Given the description of an element on the screen output the (x, y) to click on. 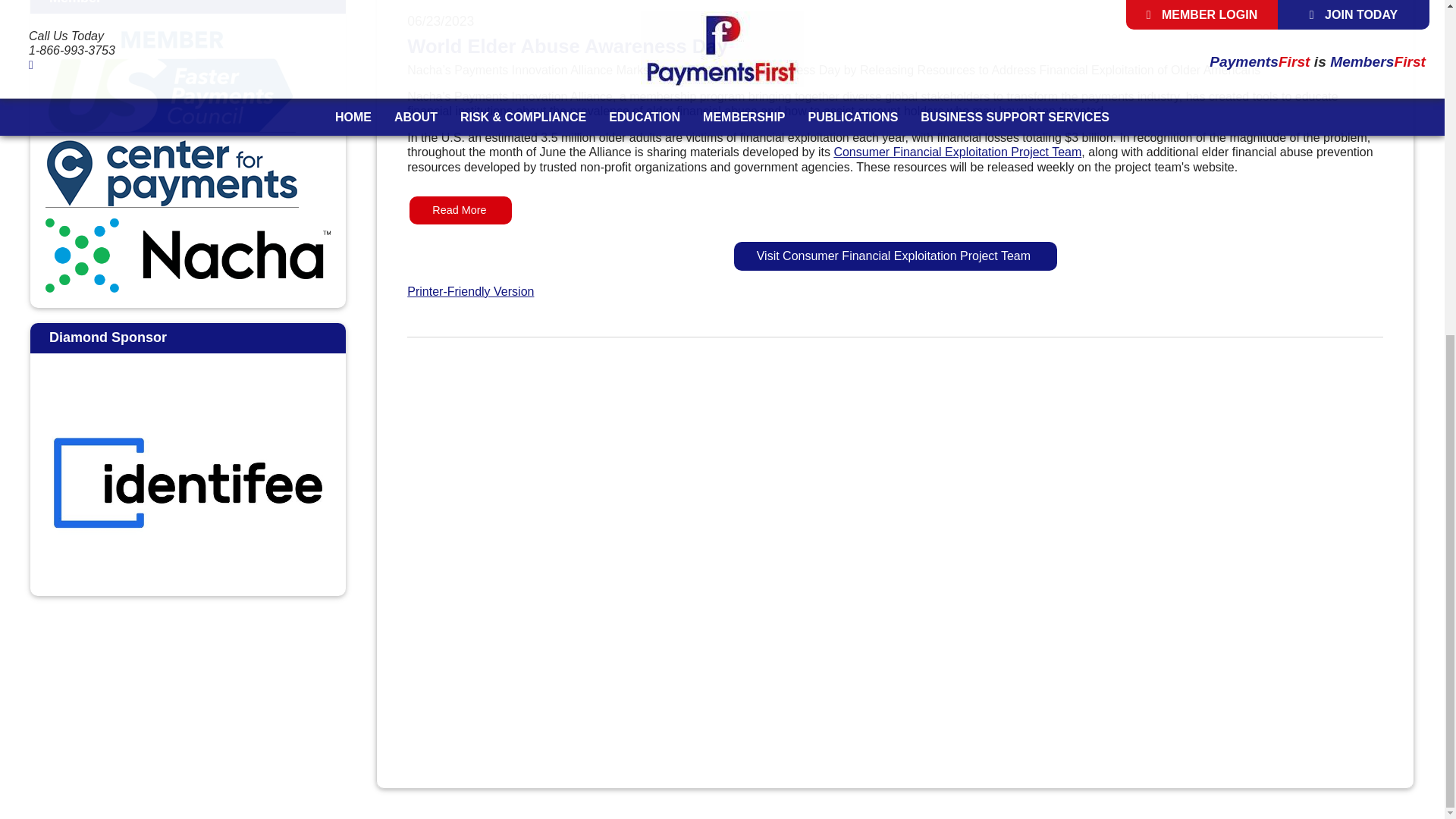
Solutions Payments Conference 2023 (188, 699)
Identifee (187, 482)
